Given the description of an element on the screen output the (x, y) to click on. 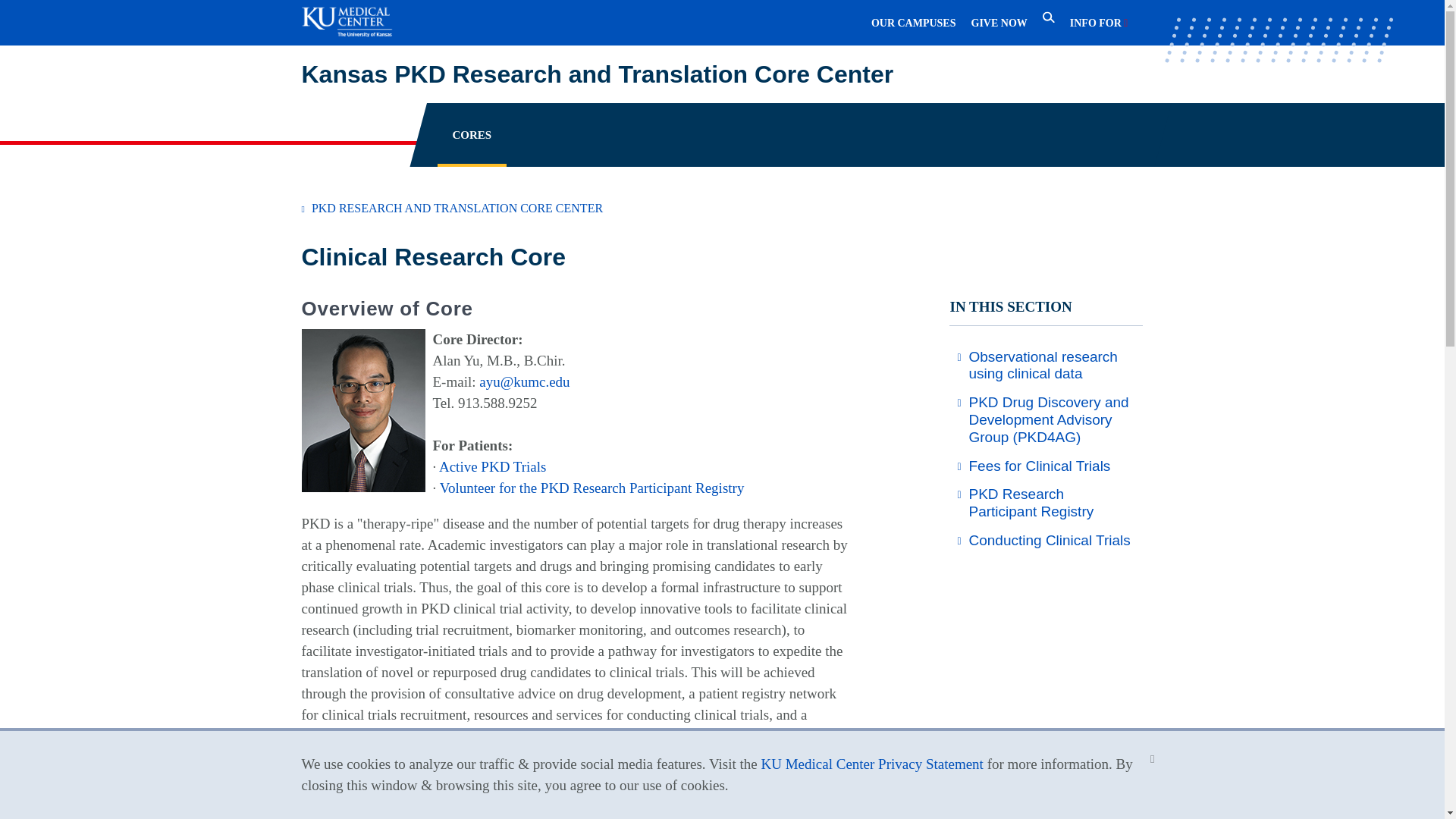
OUR CAMPUSES (913, 23)
CORES (471, 134)
GIVE NOW (998, 23)
INFO FOR (1099, 23)
Kansas PKD Research and Translation Core Center (721, 74)
